Given the description of an element on the screen output the (x, y) to click on. 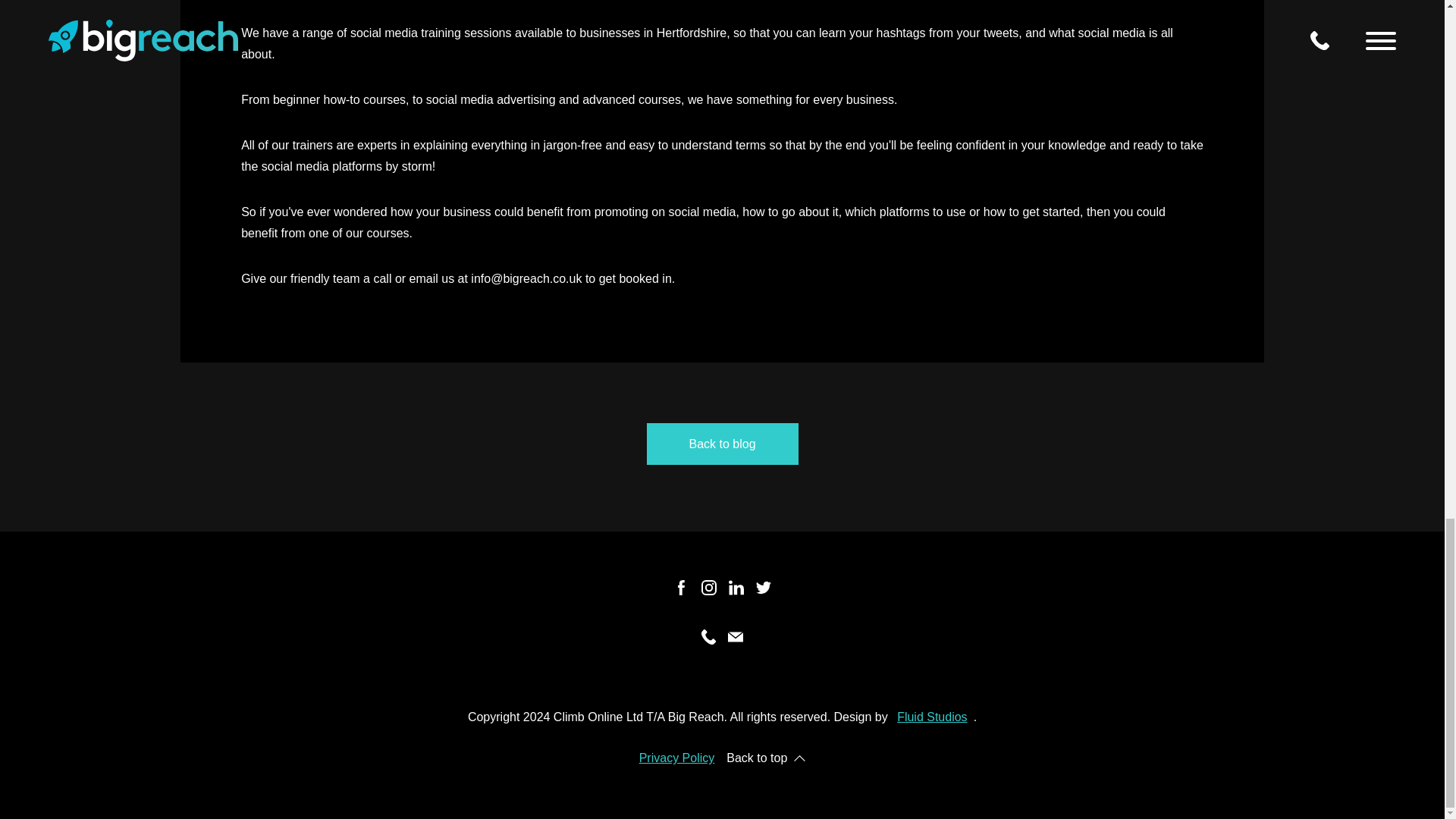
Get in Touch (681, 180)
07388 068789 (762, 180)
Back to blog (721, 444)
